Given the description of an element on the screen output the (x, y) to click on. 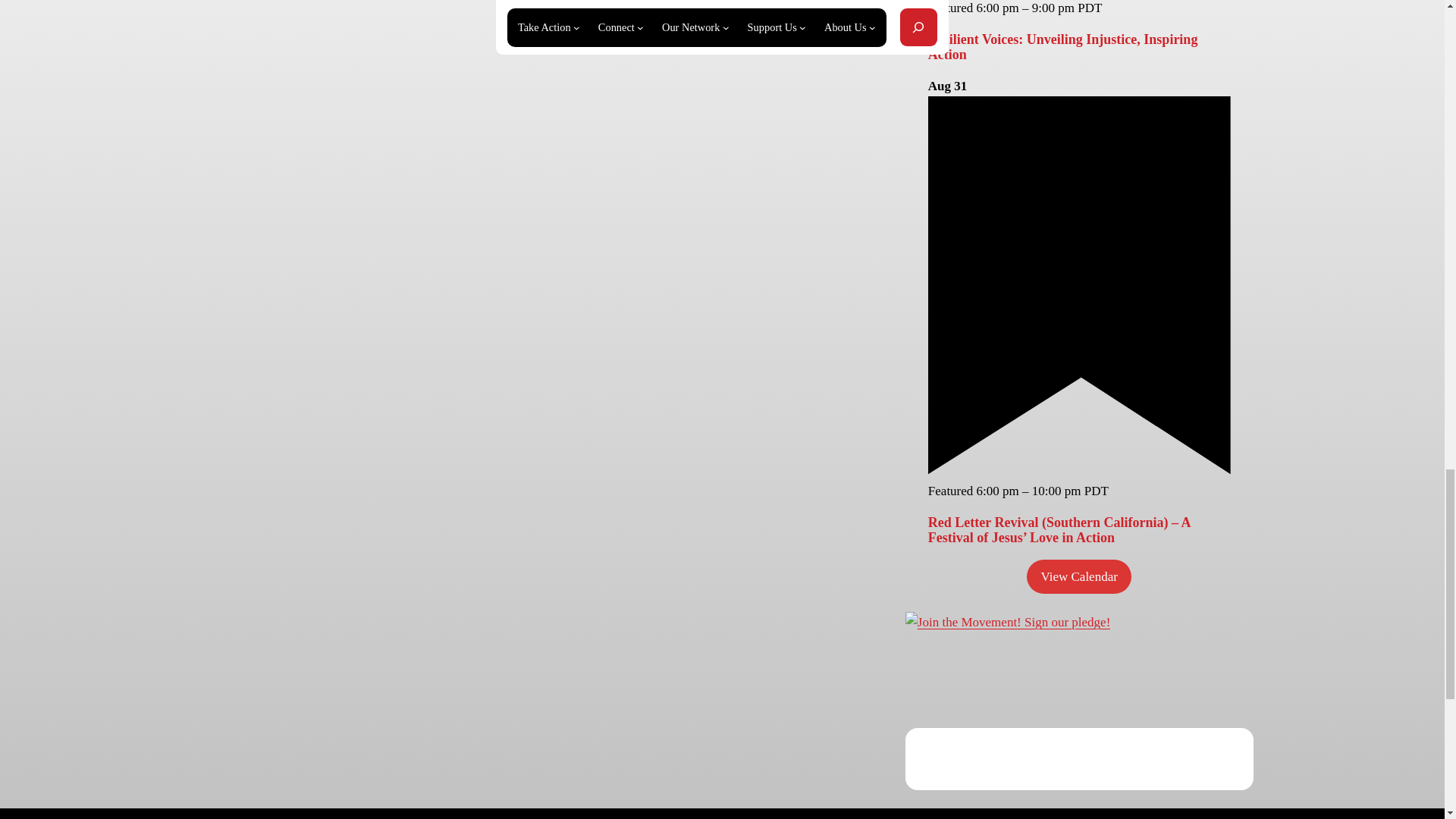
Featured (1079, 470)
View more events. (1078, 576)
Resilient Voices: Unveiling Injustice, Inspiring Action (1063, 46)
